Given the description of an element on the screen output the (x, y) to click on. 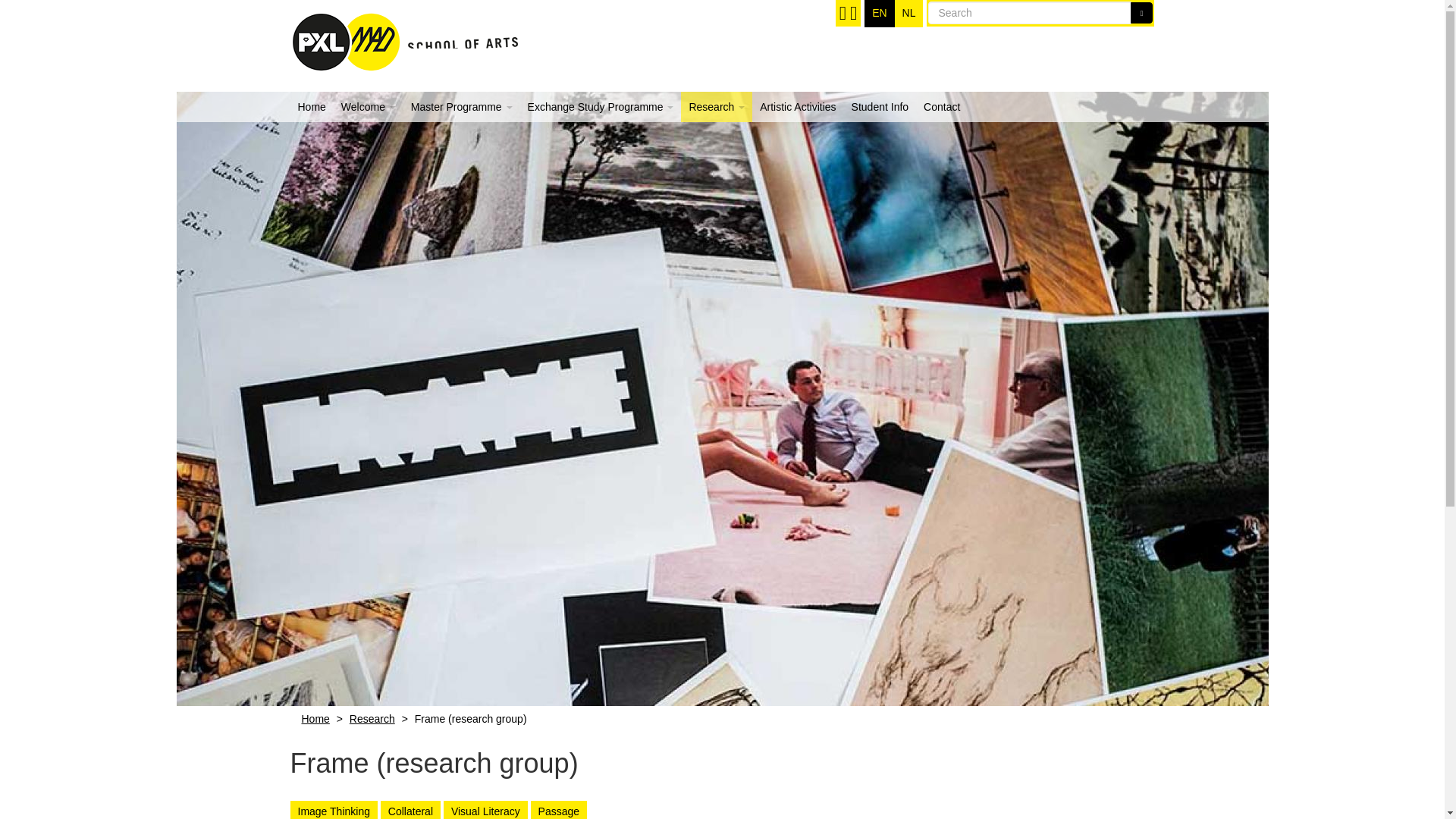
Contact (941, 106)
Research (371, 718)
Home (311, 106)
Home (315, 718)
Artistic Activities (797, 106)
Home (402, 36)
NL (908, 13)
Research (716, 106)
